Given the description of an element on the screen output the (x, y) to click on. 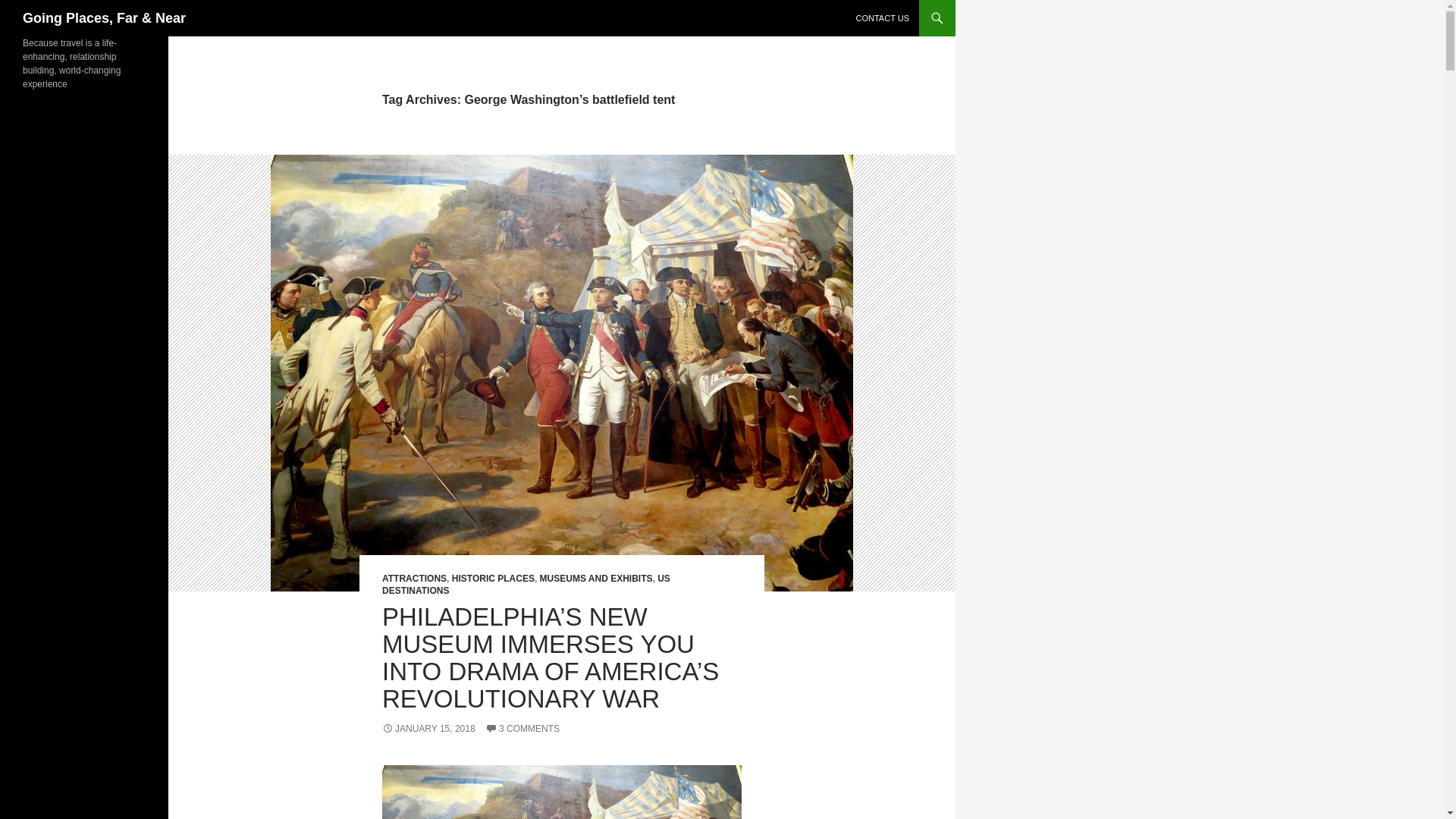
ATTRACTIONS (413, 578)
MUSEUMS AND EXHIBITS (596, 578)
CONTACT US (881, 18)
JANUARY 15, 2018 (428, 728)
US DESTINATIONS (525, 584)
HISTORIC PLACES (492, 578)
3 COMMENTS (521, 728)
